Given the description of an element on the screen output the (x, y) to click on. 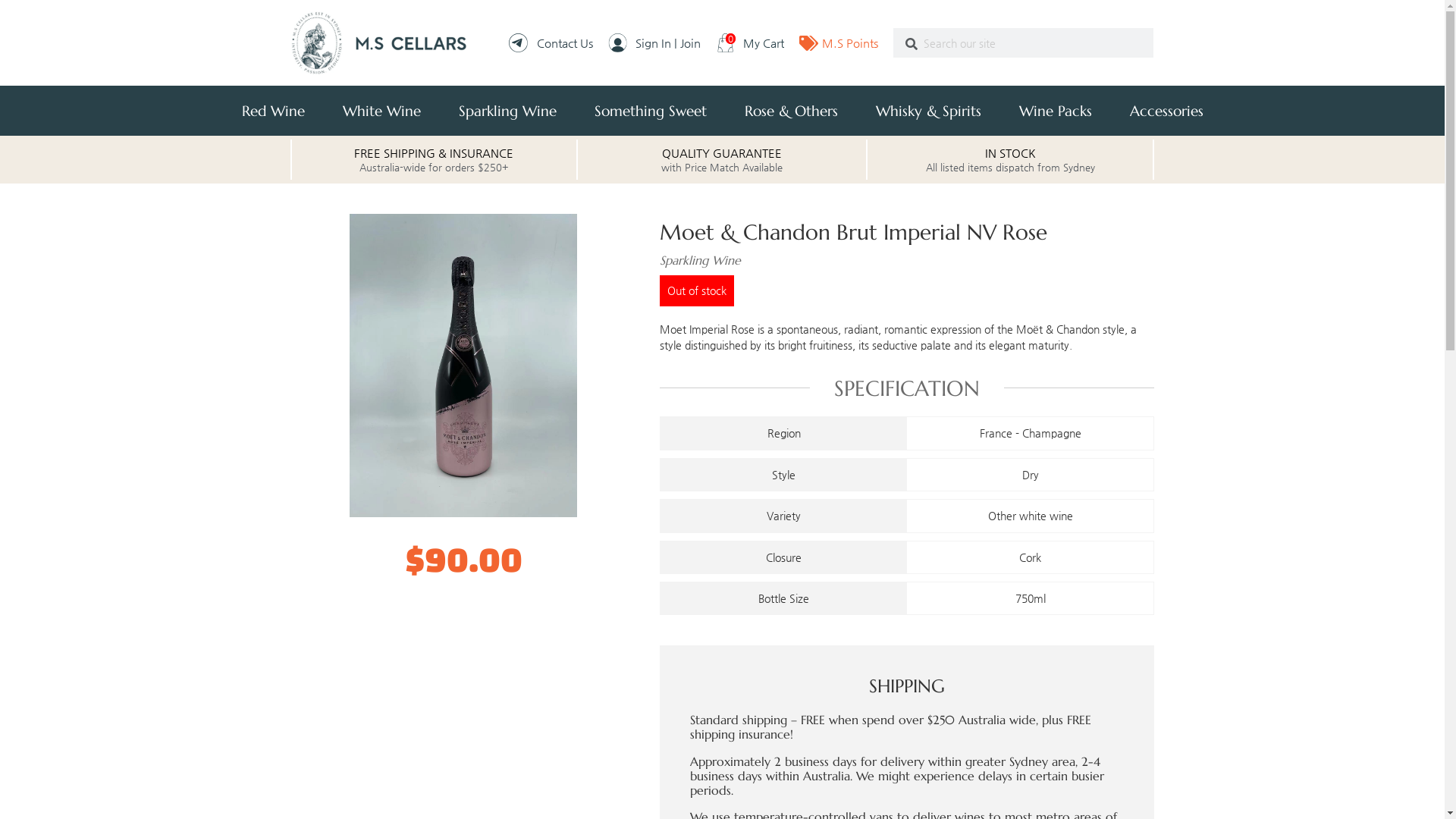
Sign In | Join Element type: text (654, 42)
M.S Points Element type: text (838, 43)
White Wine Element type: text (380, 110)
Submit Element type: text (911, 44)
Accessories Element type: text (1165, 110)
Red Wine Element type: text (273, 110)
Contact Us Element type: text (550, 42)
Whisky & Spirits Element type: text (928, 110)
Sparkling Wine Element type: text (507, 110)
Something Sweet Element type: text (649, 110)
Rose & Others Element type: text (790, 110)
Wine Packs Element type: text (1054, 110)
My Cart Element type: text (749, 42)
